Given the description of an element on the screen output the (x, y) to click on. 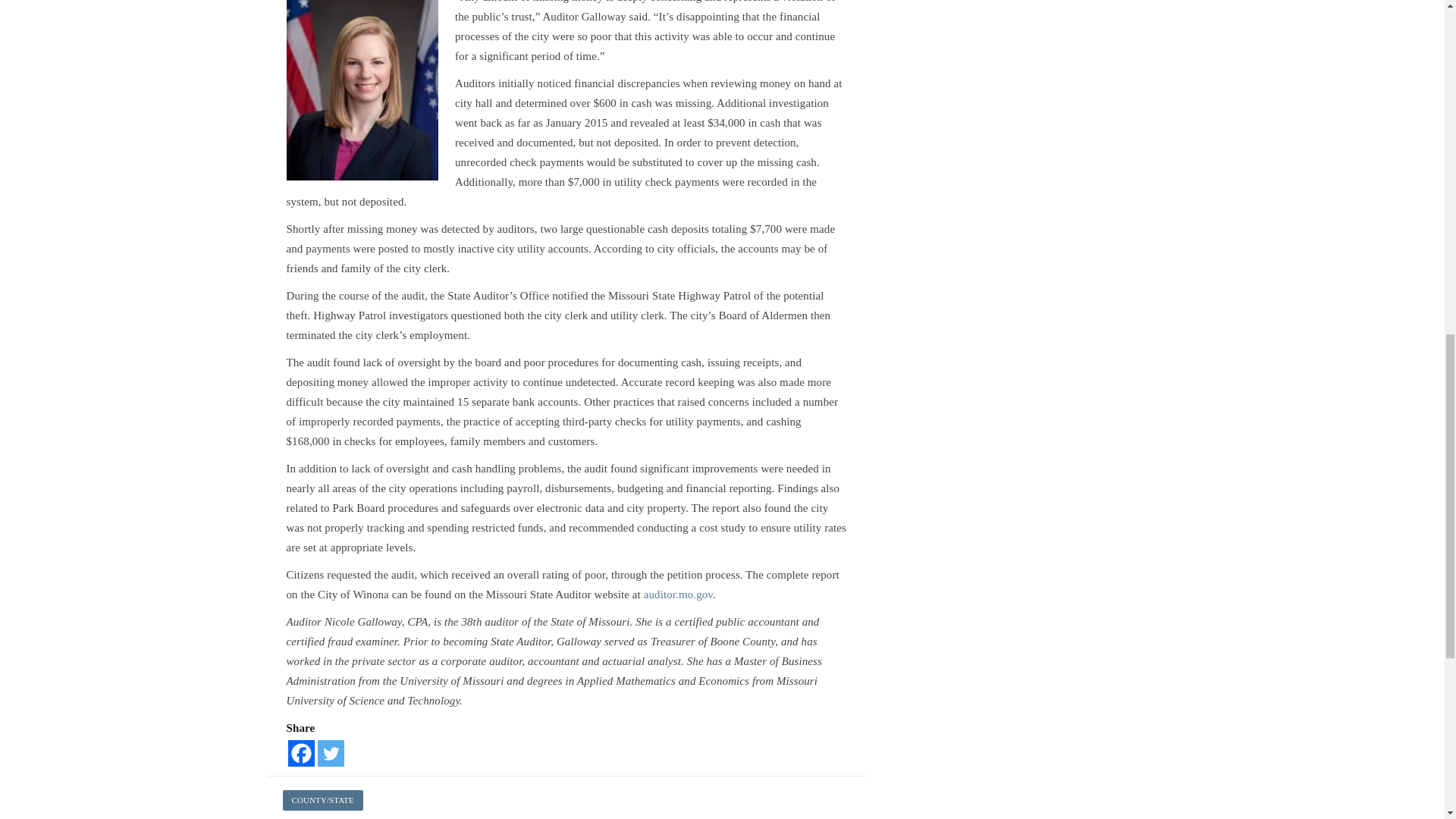
Twitter (330, 753)
Facebook (301, 753)
auditor.mo.gov (678, 594)
